Given the description of an element on the screen output the (x, y) to click on. 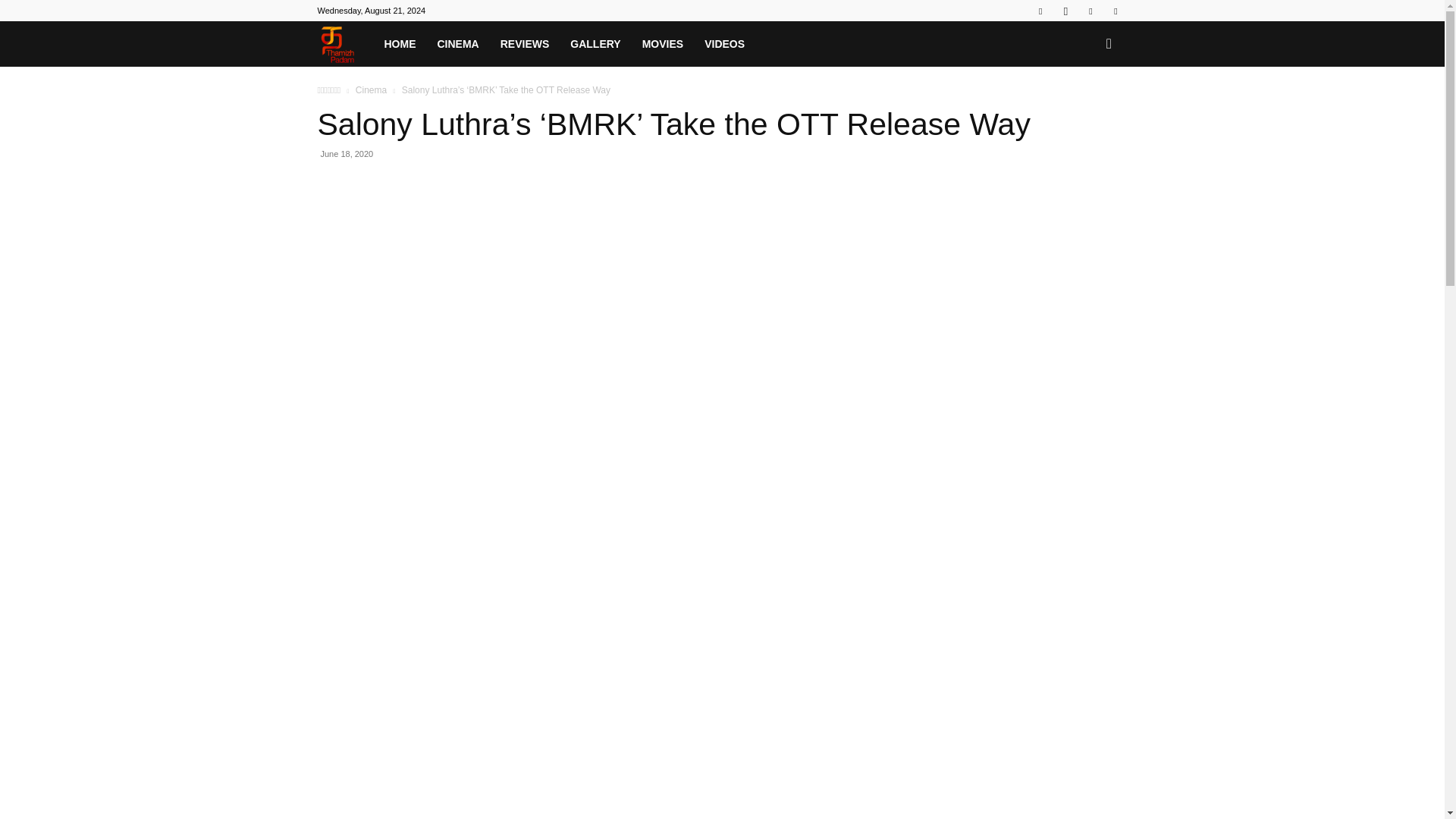
CINEMA (457, 43)
Twitter (1090, 10)
Thamizhpadam (337, 44)
HOME (399, 43)
Facebook (1040, 10)
Thamizhpadam (344, 44)
Instagram (1065, 10)
Youtube (1114, 10)
